Given the description of an element on the screen output the (x, y) to click on. 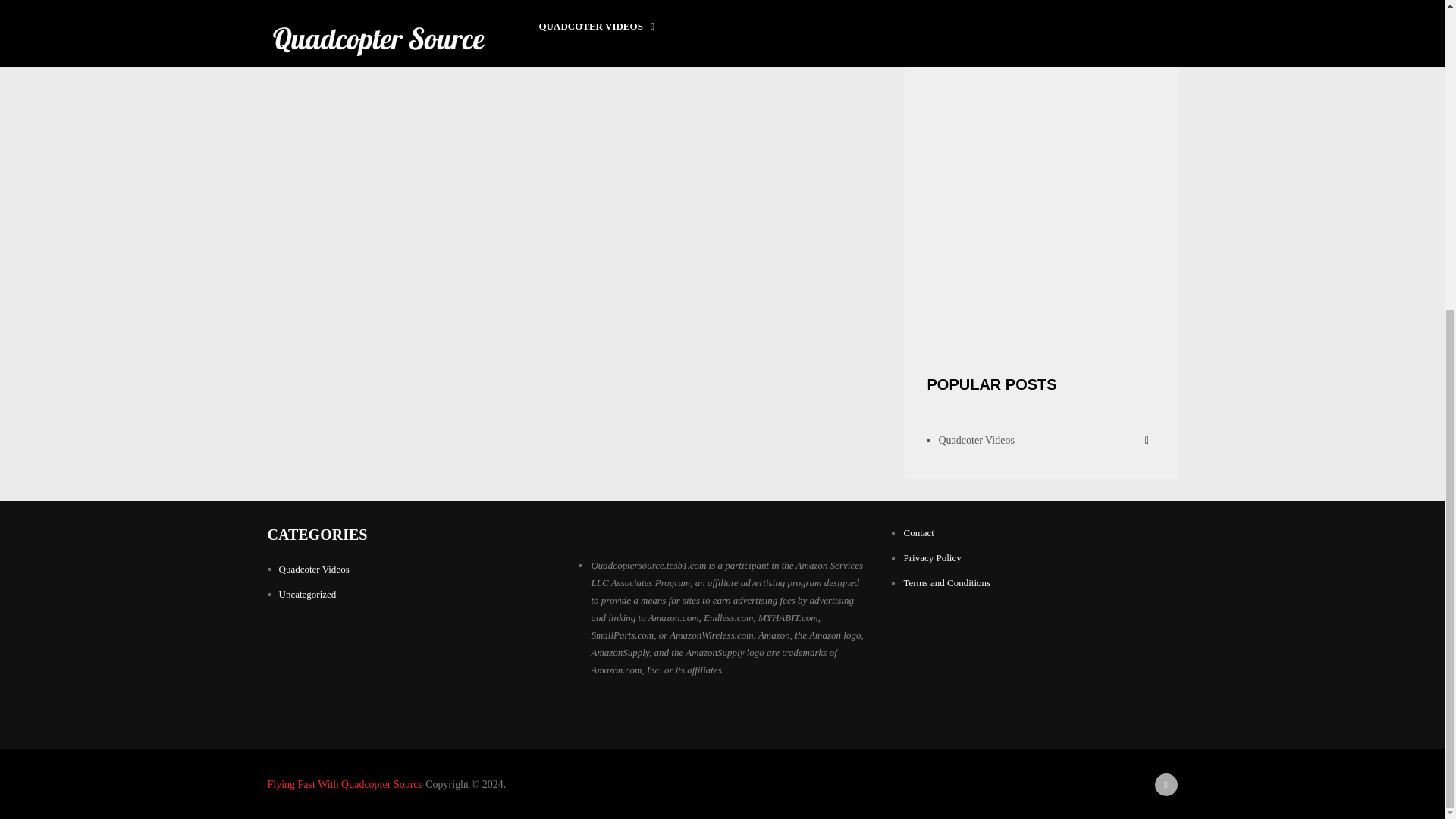
Contact (917, 532)
Terms and Conditions (946, 582)
Quadcoter Videos (976, 439)
Quadcoter Videos (314, 568)
Uncategorized (307, 593)
Privacy Policy (931, 557)
Terms and Conditions (946, 582)
Contact (917, 532)
Privacy Policy (931, 557)
Flying Fast With Quadcopter Source (344, 784)
